Given the description of an element on the screen output the (x, y) to click on. 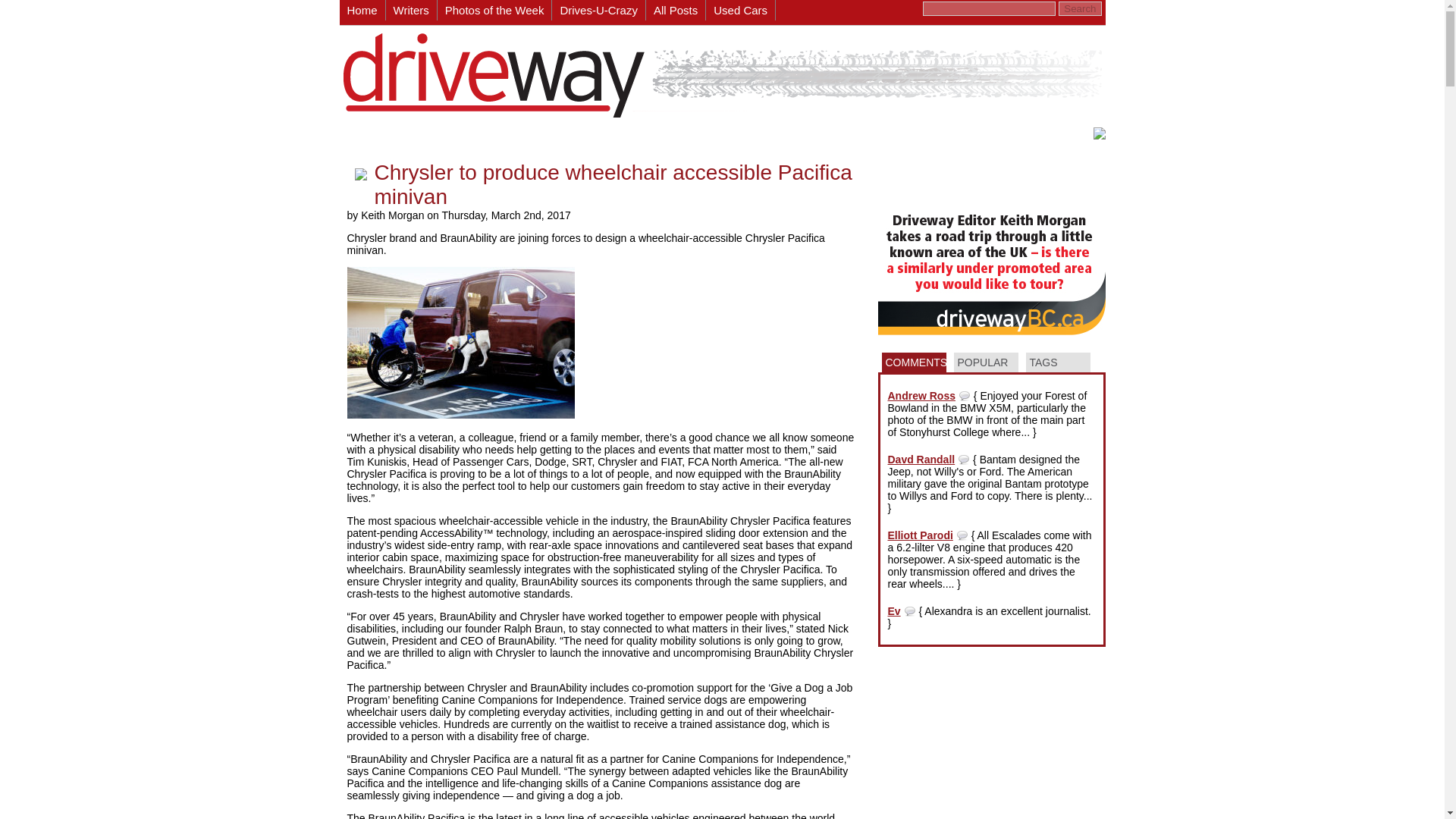
Chrysler to produce wheelchair accessible Pacifica minivan (612, 184)
Home (362, 10)
All Posts (676, 10)
Photos of the Week (495, 10)
Drives-U-Crazy (598, 10)
Driveway BC Writers (411, 10)
Search (1079, 8)
Used Cars (741, 10)
The latest and greatest cars (495, 10)
Search (1079, 8)
Writers (411, 10)
